Given the description of an element on the screen output the (x, y) to click on. 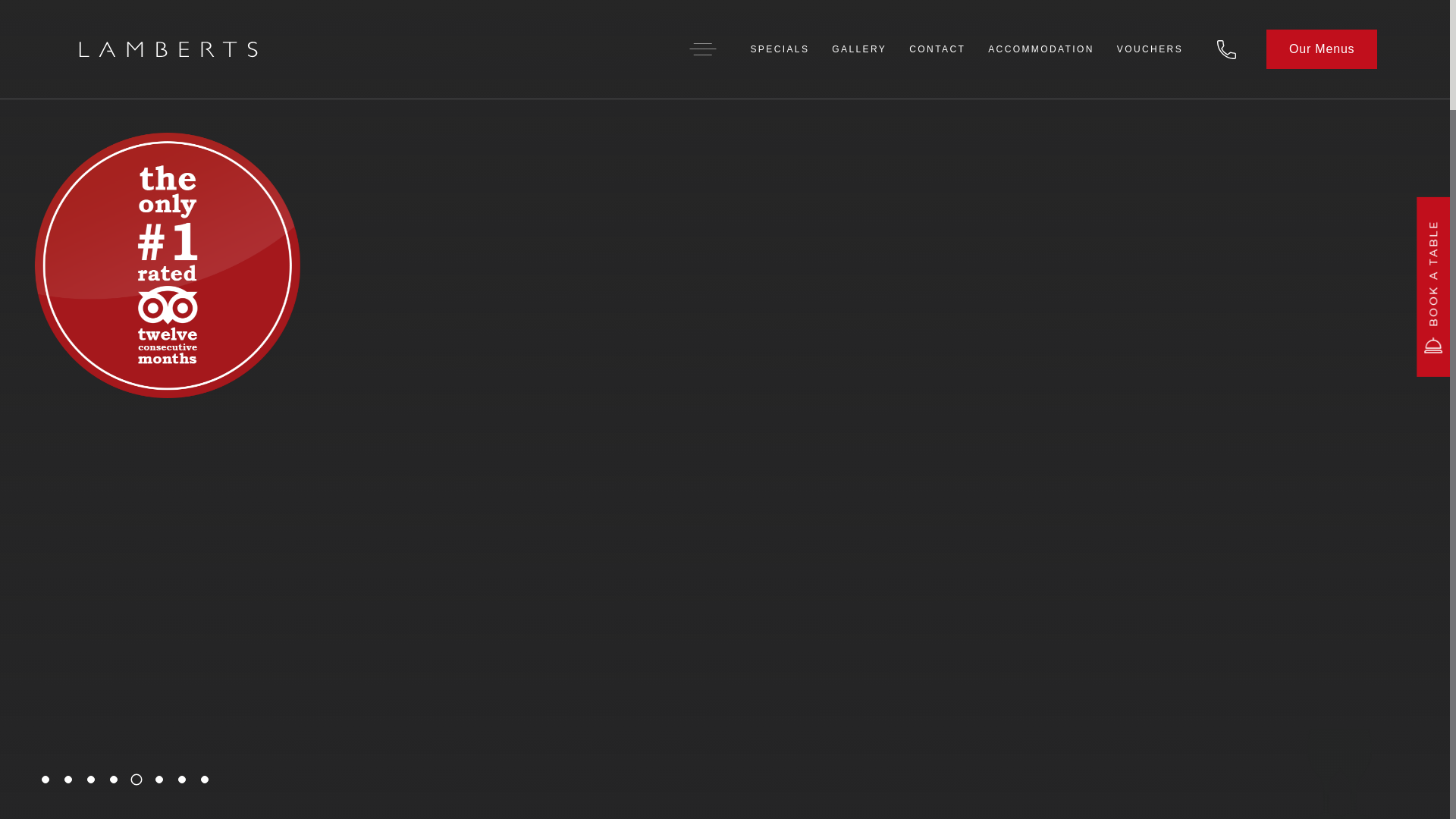
Our Menus Element type: text (1321, 49)
5 Element type: text (134, 777)
ACCOMMODATION Element type: text (1040, 49)
1 Element type: text (45, 779)
2 Element type: text (68, 779)
VOUCHERS Element type: text (1149, 49)
CONTACT Element type: text (936, 49)
GALLERY Element type: text (858, 49)
SPECIALS Element type: text (779, 49)
7 Element type: text (181, 779)
8 Element type: text (204, 779)
6 Element type: text (159, 779)
Call Us Element type: hover (1226, 48)
4 Element type: text (113, 779)
3 Element type: text (90, 779)
